Given the description of an element on the screen output the (x, y) to click on. 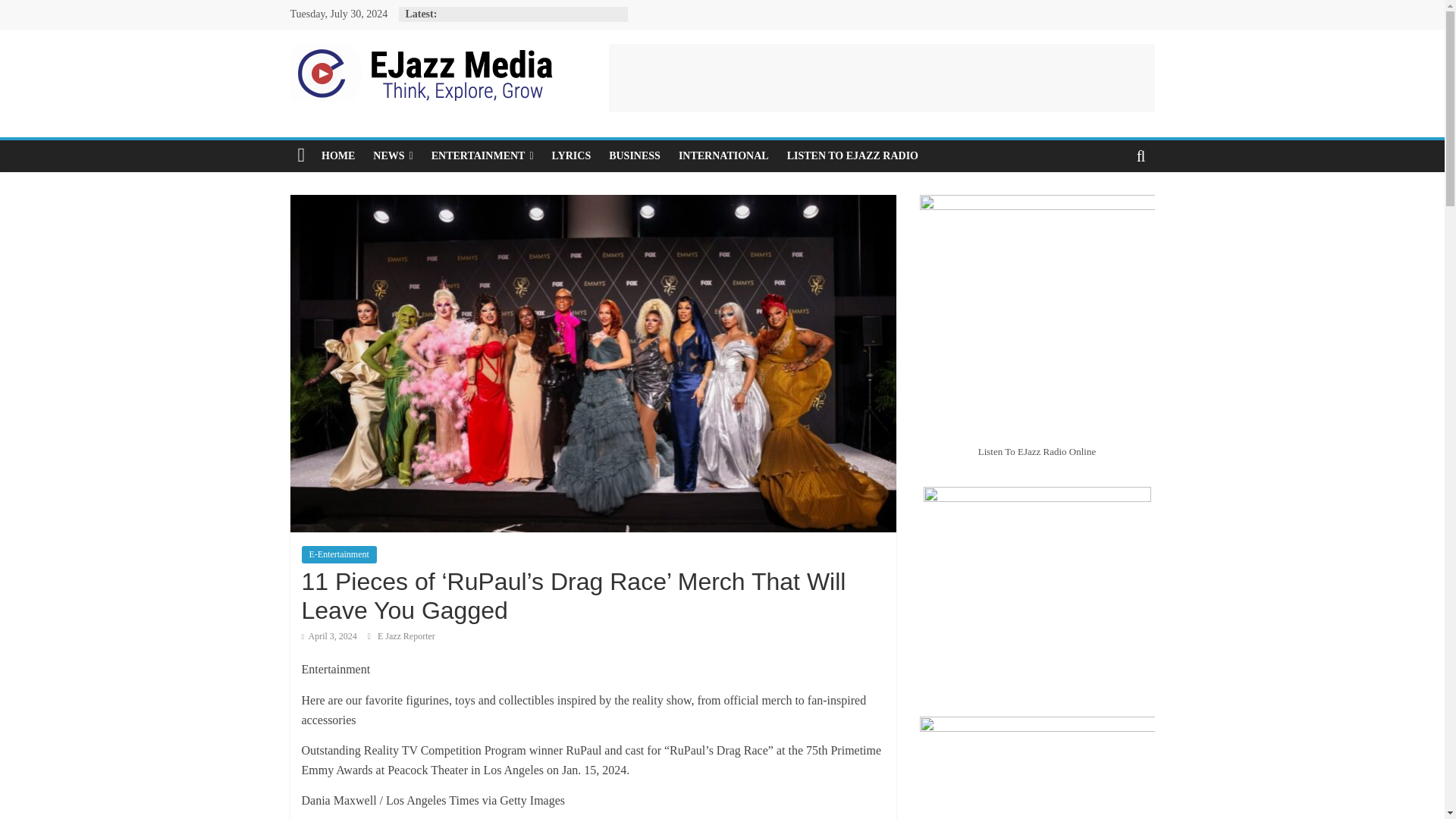
BUSINESS (634, 155)
E Jazz Reporter (406, 635)
LYRICS (571, 155)
ENTERTAINMENT (482, 155)
E-Entertainment (339, 554)
April 3, 2024 (328, 635)
HOME (338, 155)
4:56 pm (328, 635)
INTERNATIONAL (723, 155)
LISTEN TO EJAZZ RADIO (852, 155)
E Jazz Reporter (406, 635)
NEWS (393, 155)
